Given the description of an element on the screen output the (x, y) to click on. 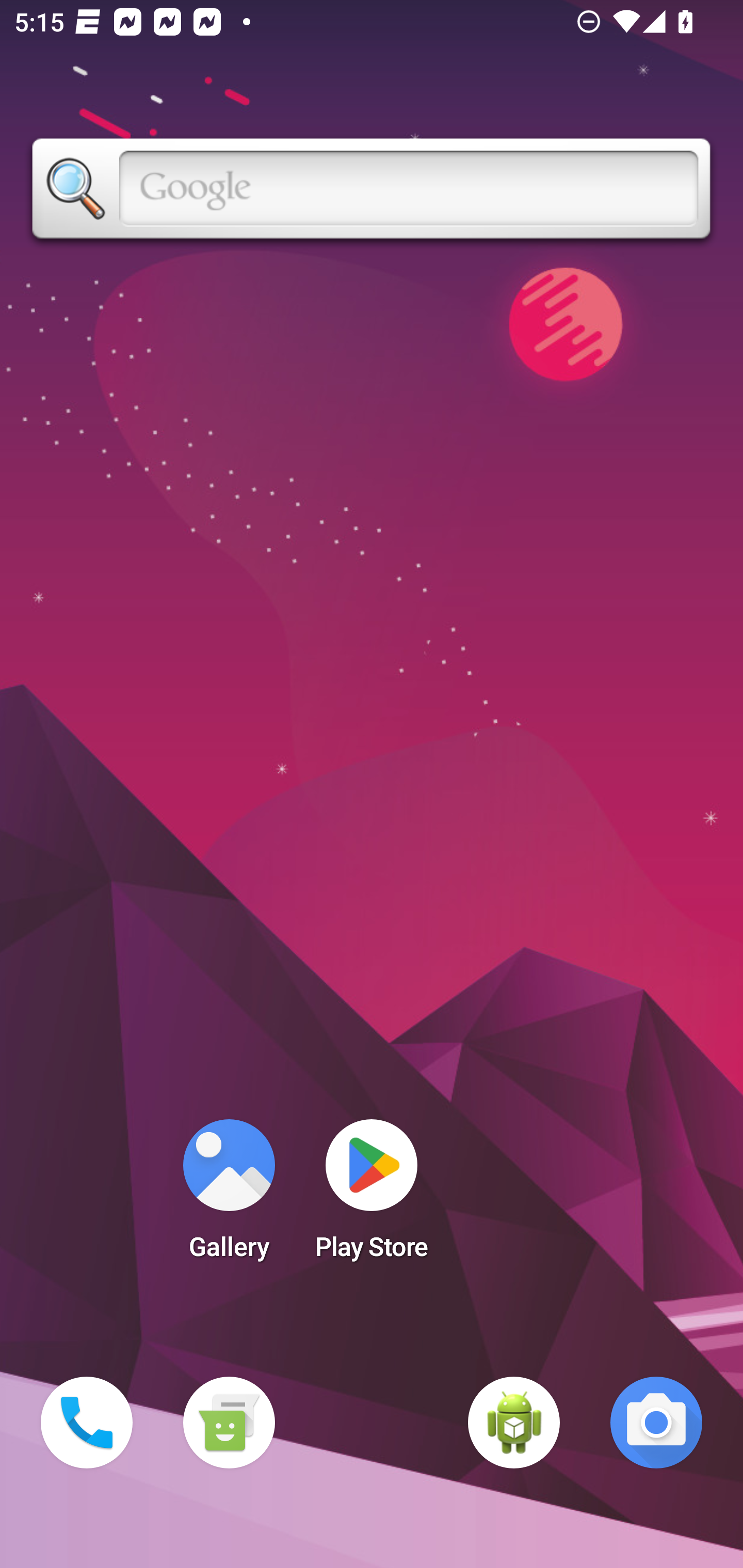
Gallery (228, 1195)
Play Store (371, 1195)
Phone (86, 1422)
Messaging (228, 1422)
WebView Browser Tester (513, 1422)
Camera (656, 1422)
